Given the description of an element on the screen output the (x, y) to click on. 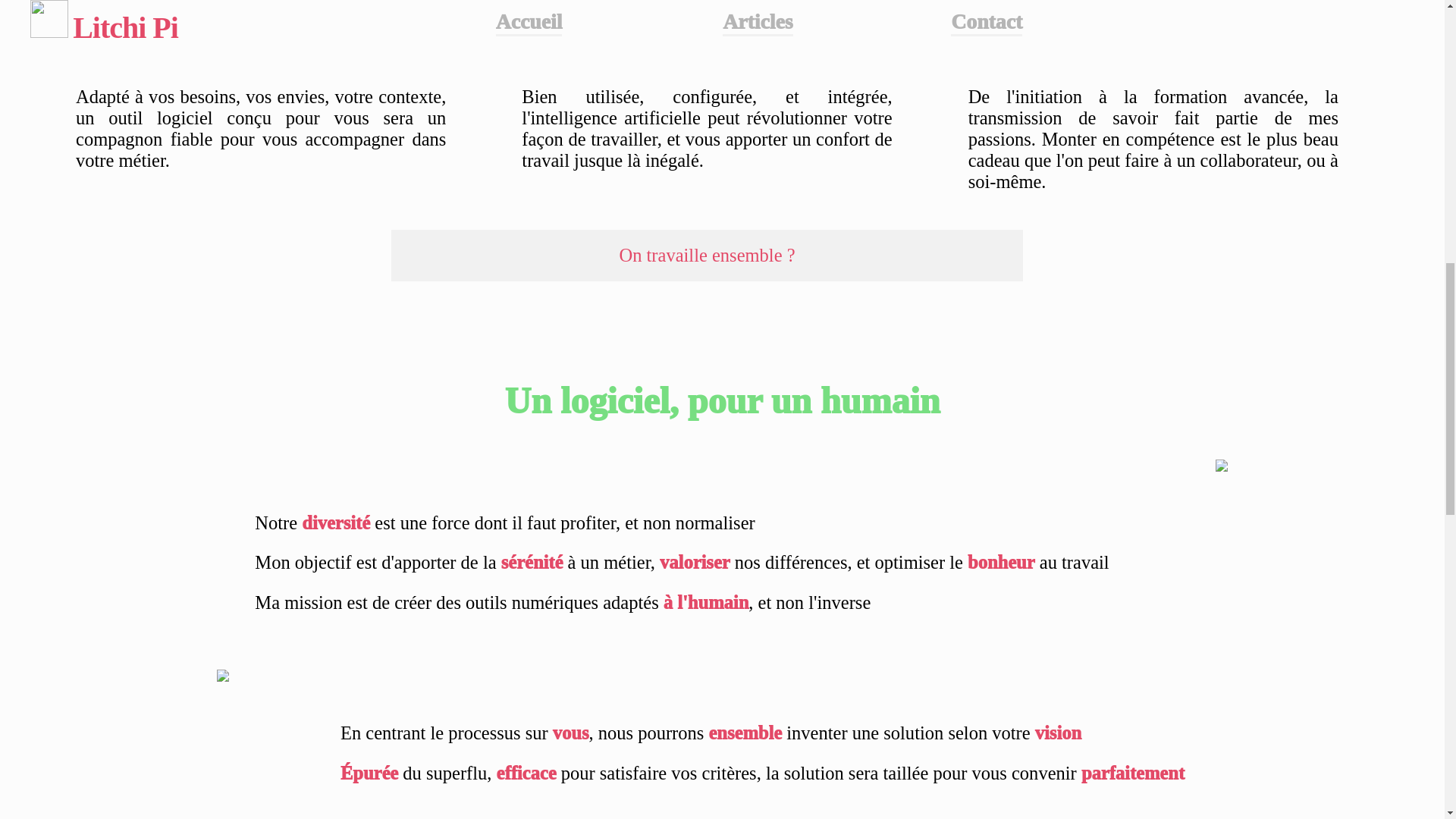
On travaille ensemble ? (707, 255)
